Given the description of an element on the screen output the (x, y) to click on. 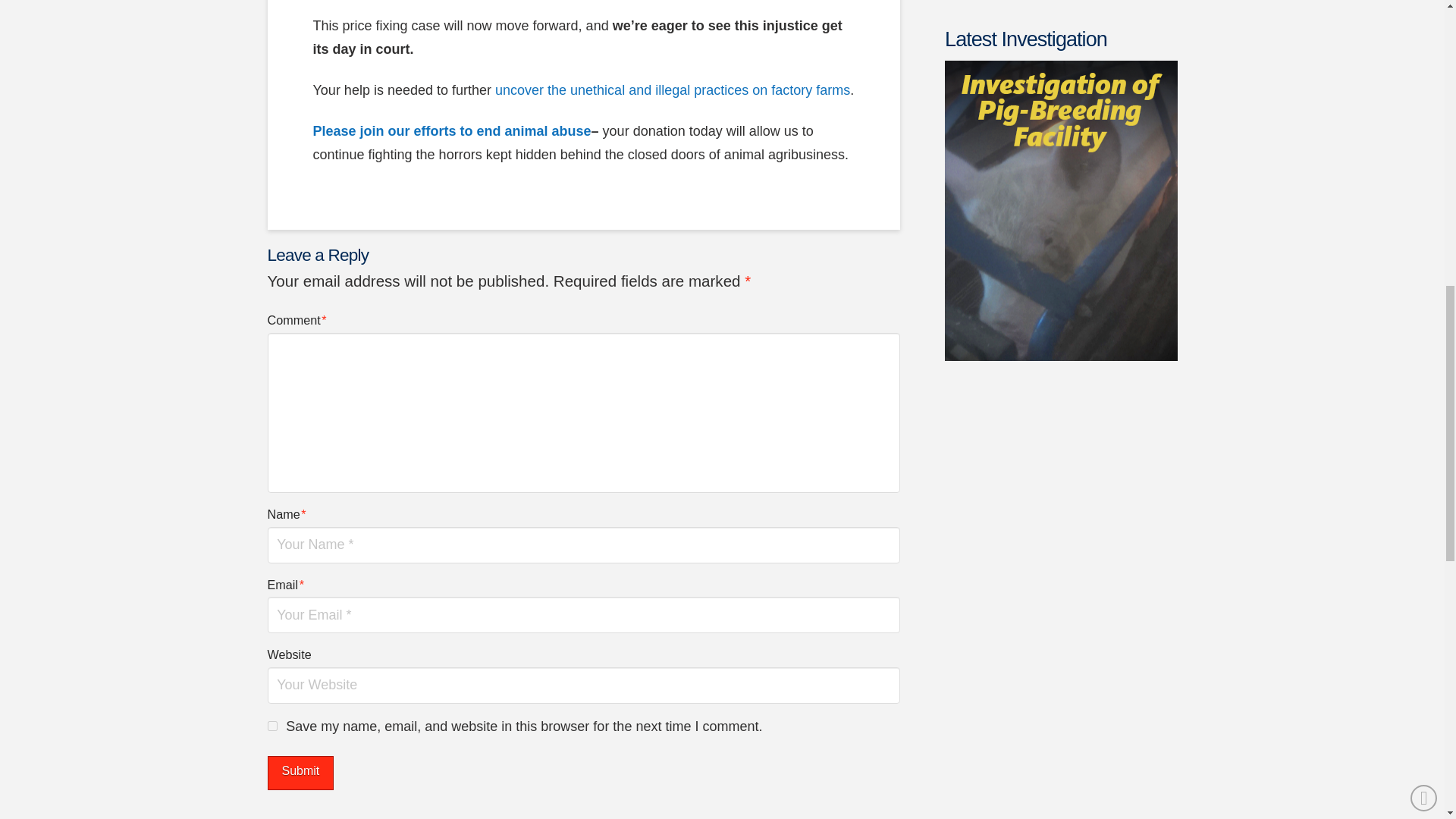
Submit (299, 772)
yes (271, 726)
